Given the description of an element on the screen output the (x, y) to click on. 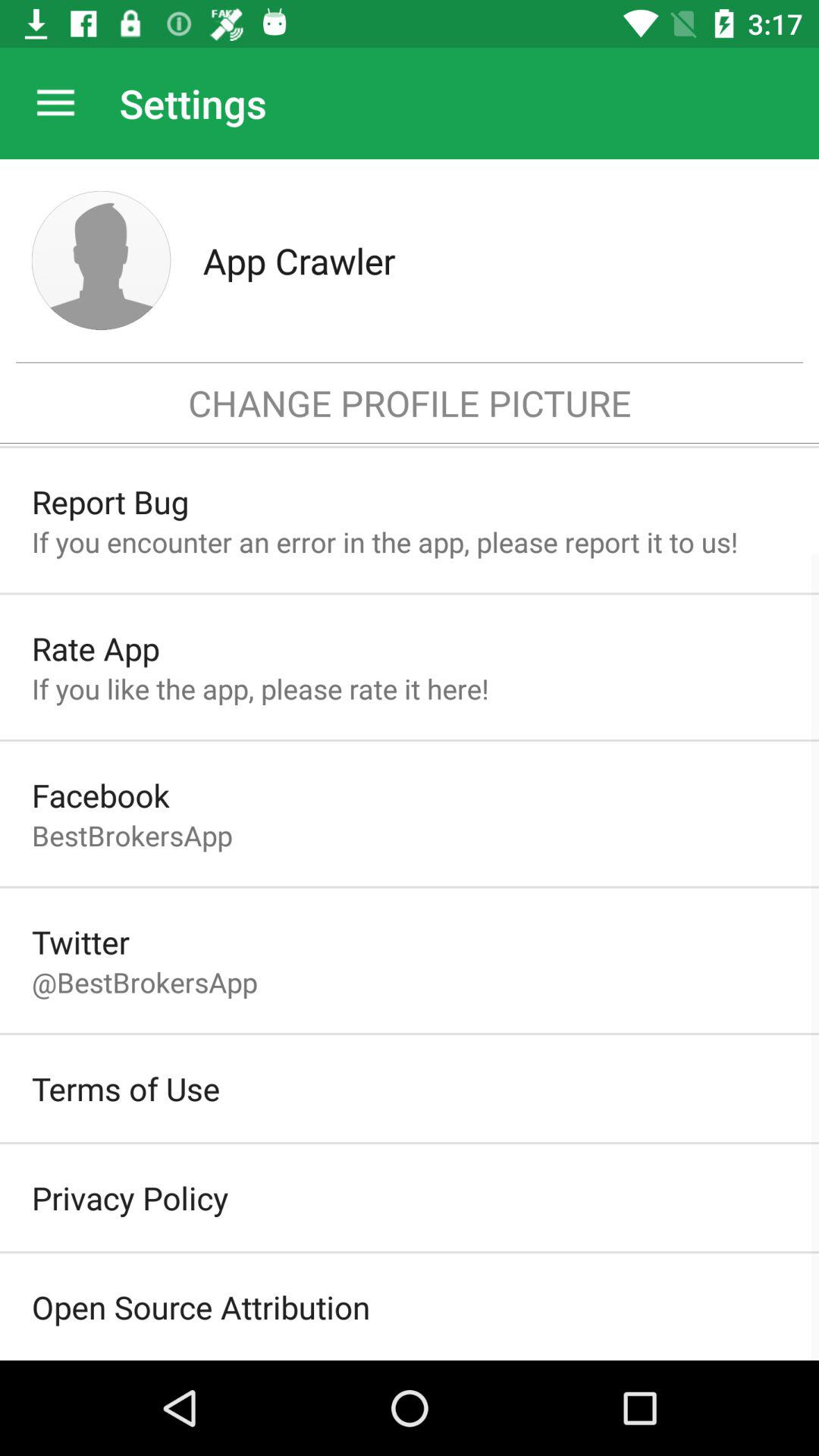
turn on item above if you encounter (109, 501)
